Given the description of an element on the screen output the (x, y) to click on. 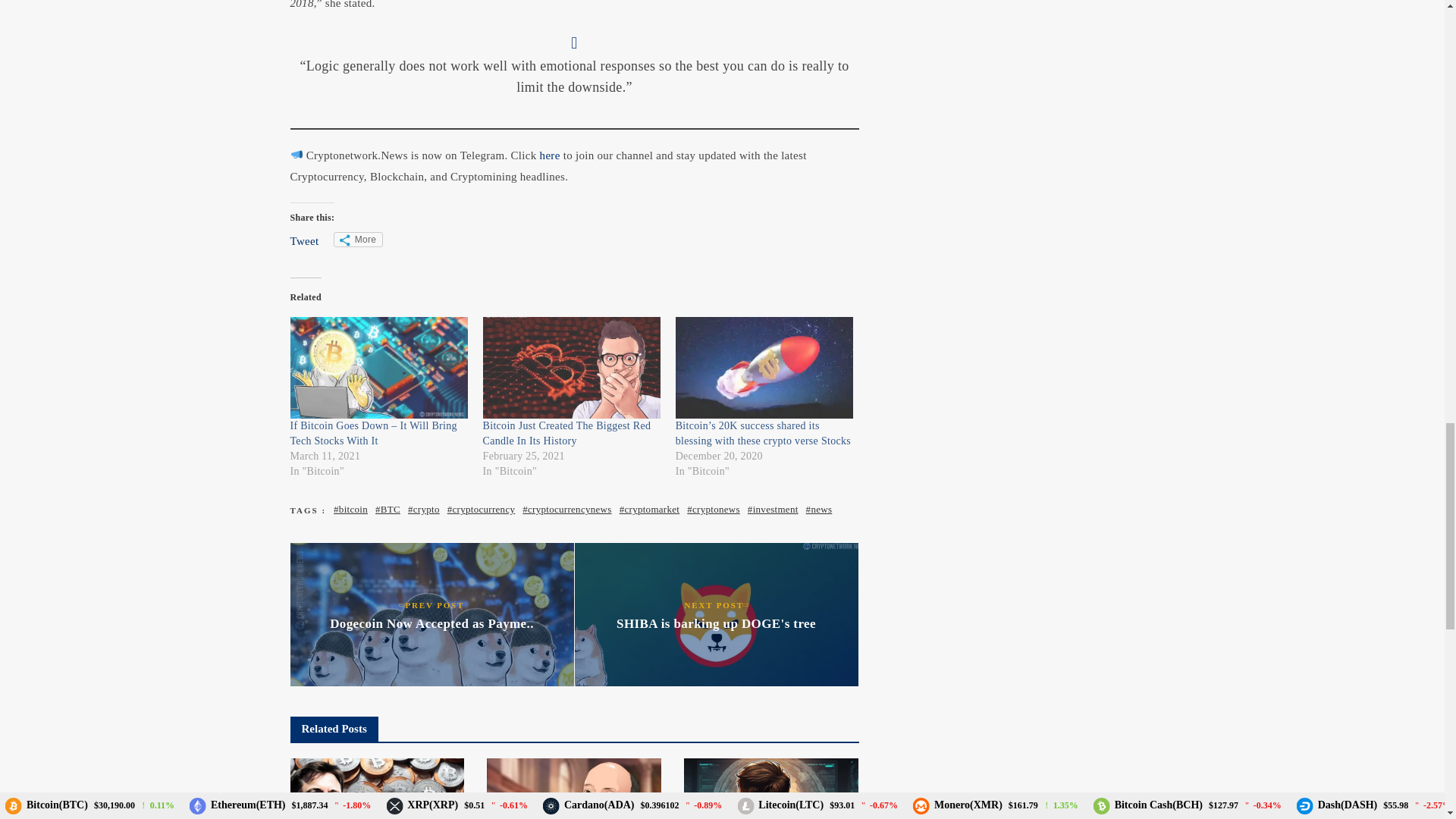
Bitcoin Just Created The Biggest Red Candle In Its History (566, 433)
Bitcoin Just Created The Biggest Red Candle In Its History (572, 367)
here (551, 155)
